Given the description of an element on the screen output the (x, y) to click on. 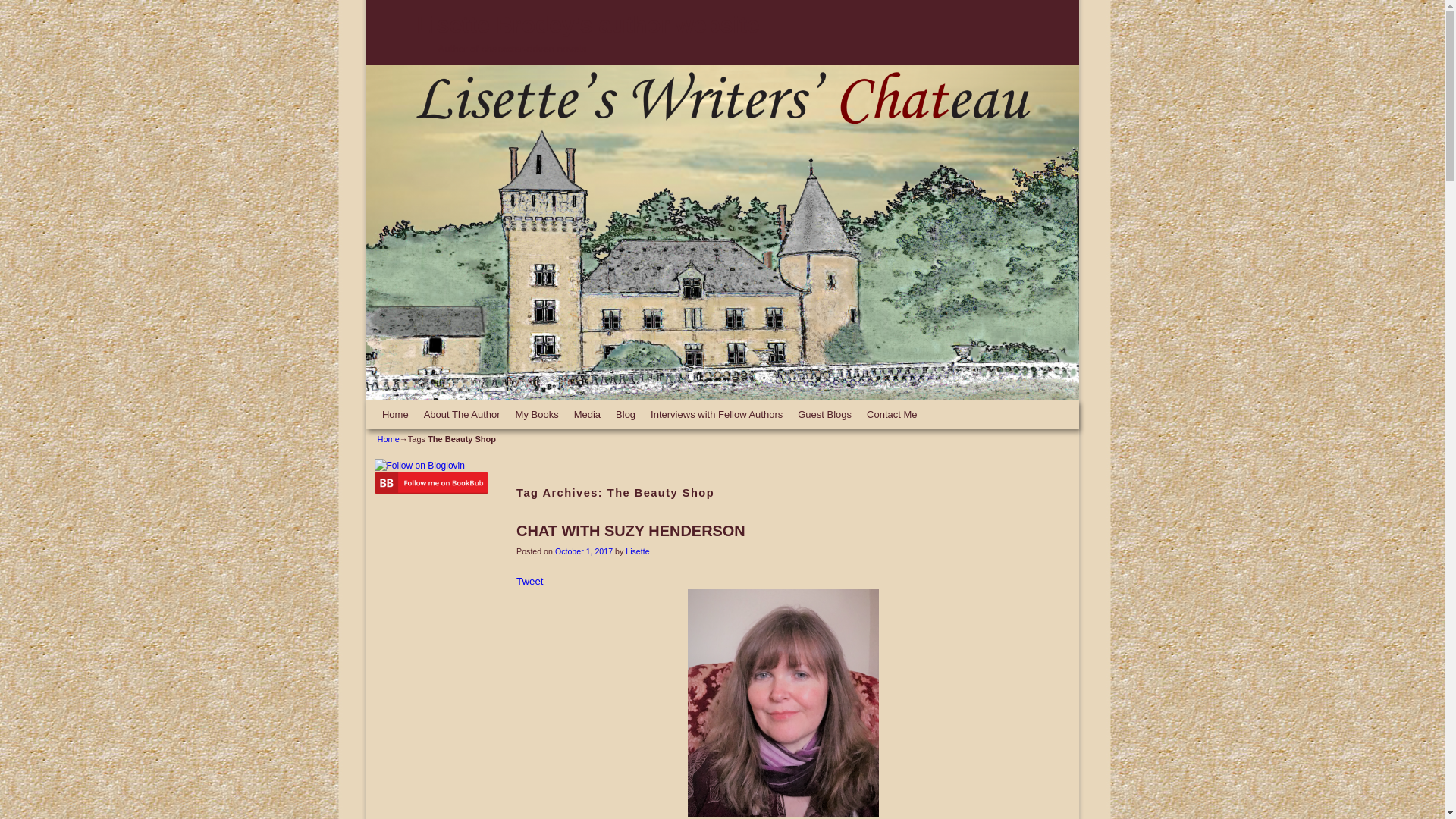
Skip to primary content (403, 405)
Home (387, 438)
Permalink to CHAT WITH SUZY HENDERSON (630, 530)
View all posts by Lisette (637, 551)
Lisette Brodey's author website (587, 24)
Guest Blogs (824, 414)
Home (395, 414)
About The Author (462, 414)
Skip to secondary content (408, 405)
October 1, 2017 (583, 551)
